Given the description of an element on the screen output the (x, y) to click on. 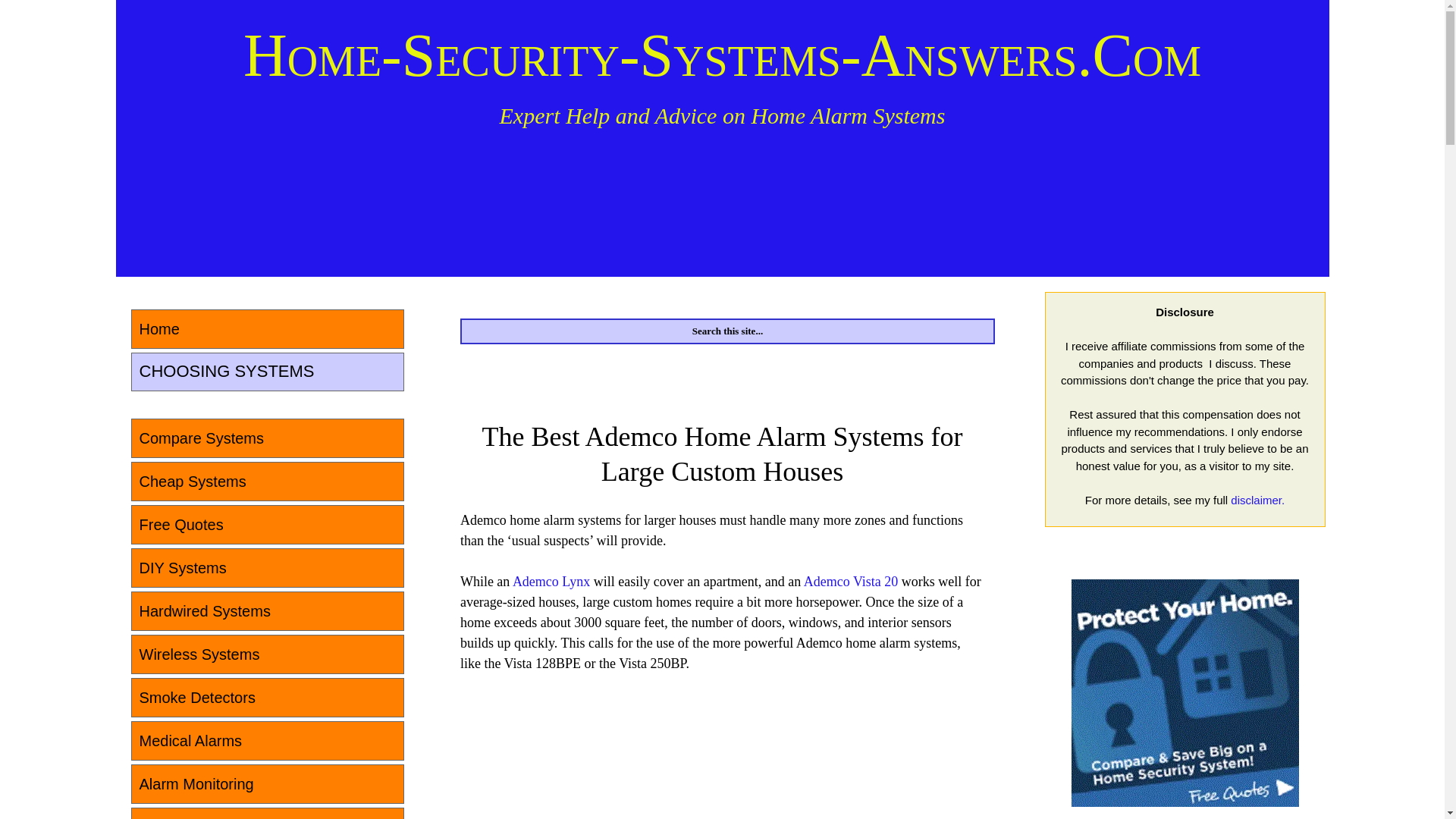
Home-Security-Systems-Answers.Com (722, 55)
Ademco Vista 20 (850, 581)
Ademco Lynx (550, 581)
Advertisement (573, 777)
BuyerZone - Protect Your Home - Compare and Save! (1184, 692)
